Given the description of an element on the screen output the (x, y) to click on. 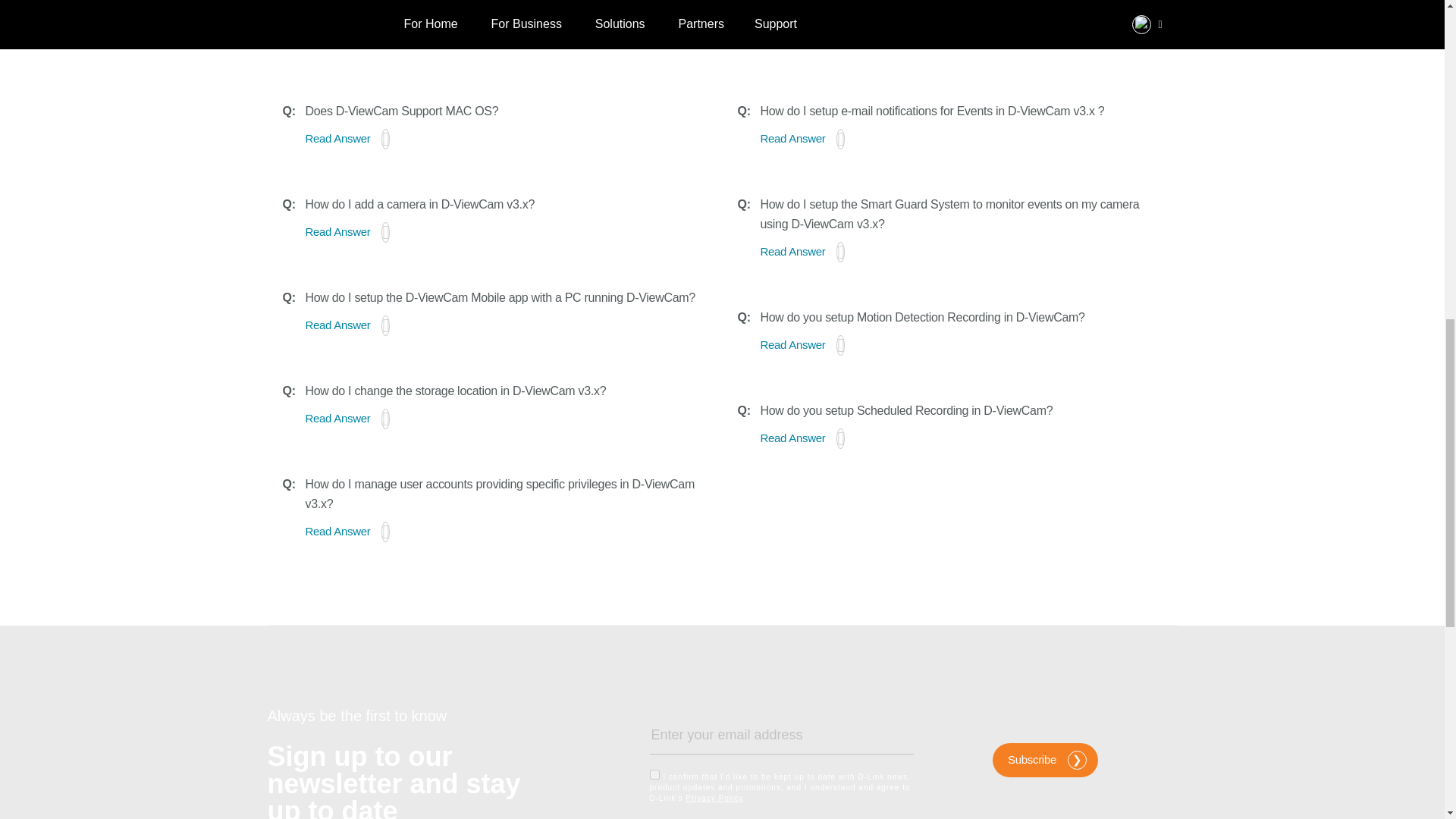
True (654, 774)
